Given the description of an element on the screen output the (x, y) to click on. 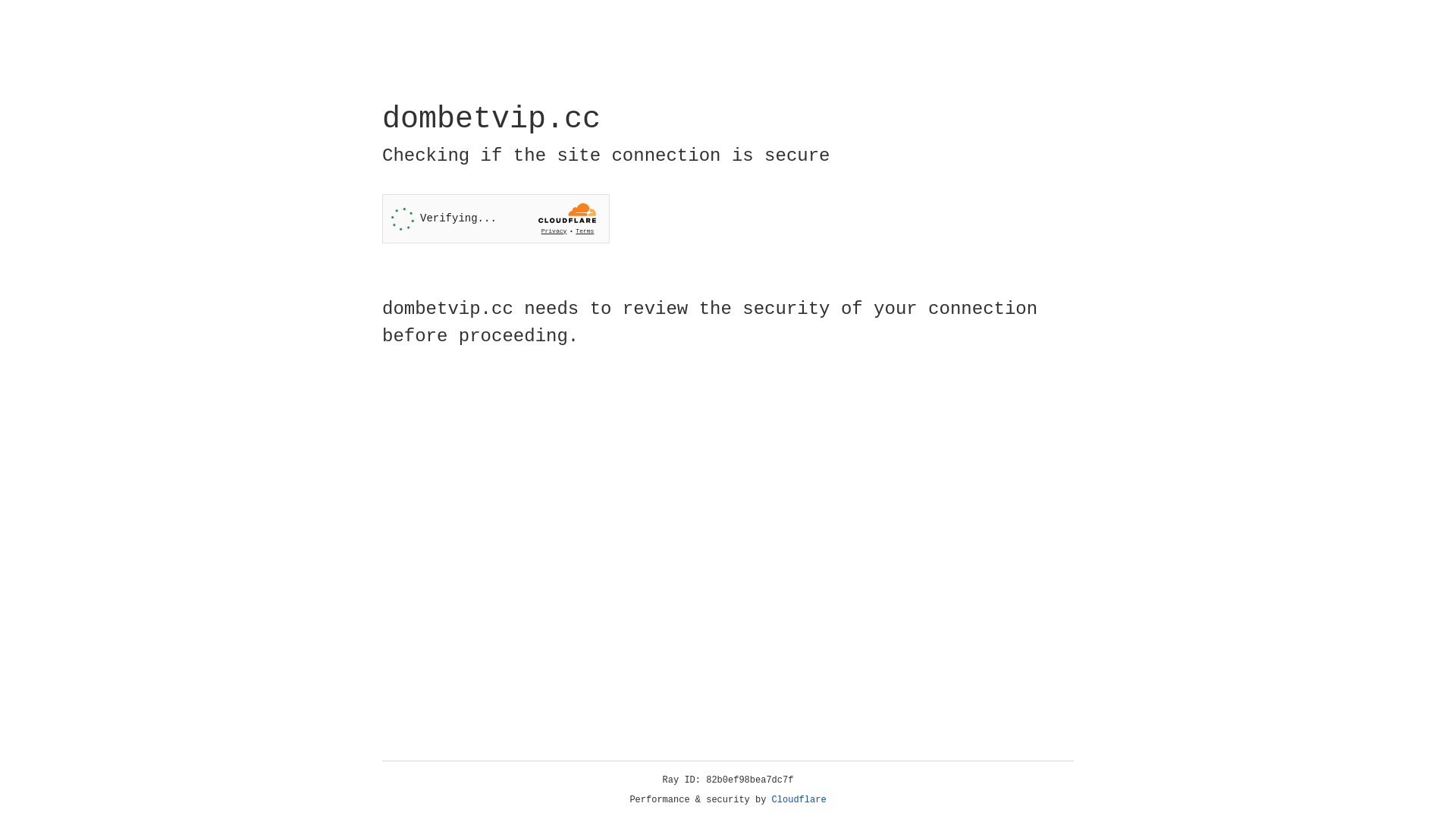
Cloudflare Element type: text (798, 799)
Widget containing a Cloudflare security challenge Element type: hover (495, 218)
